Given the description of an element on the screen output the (x, y) to click on. 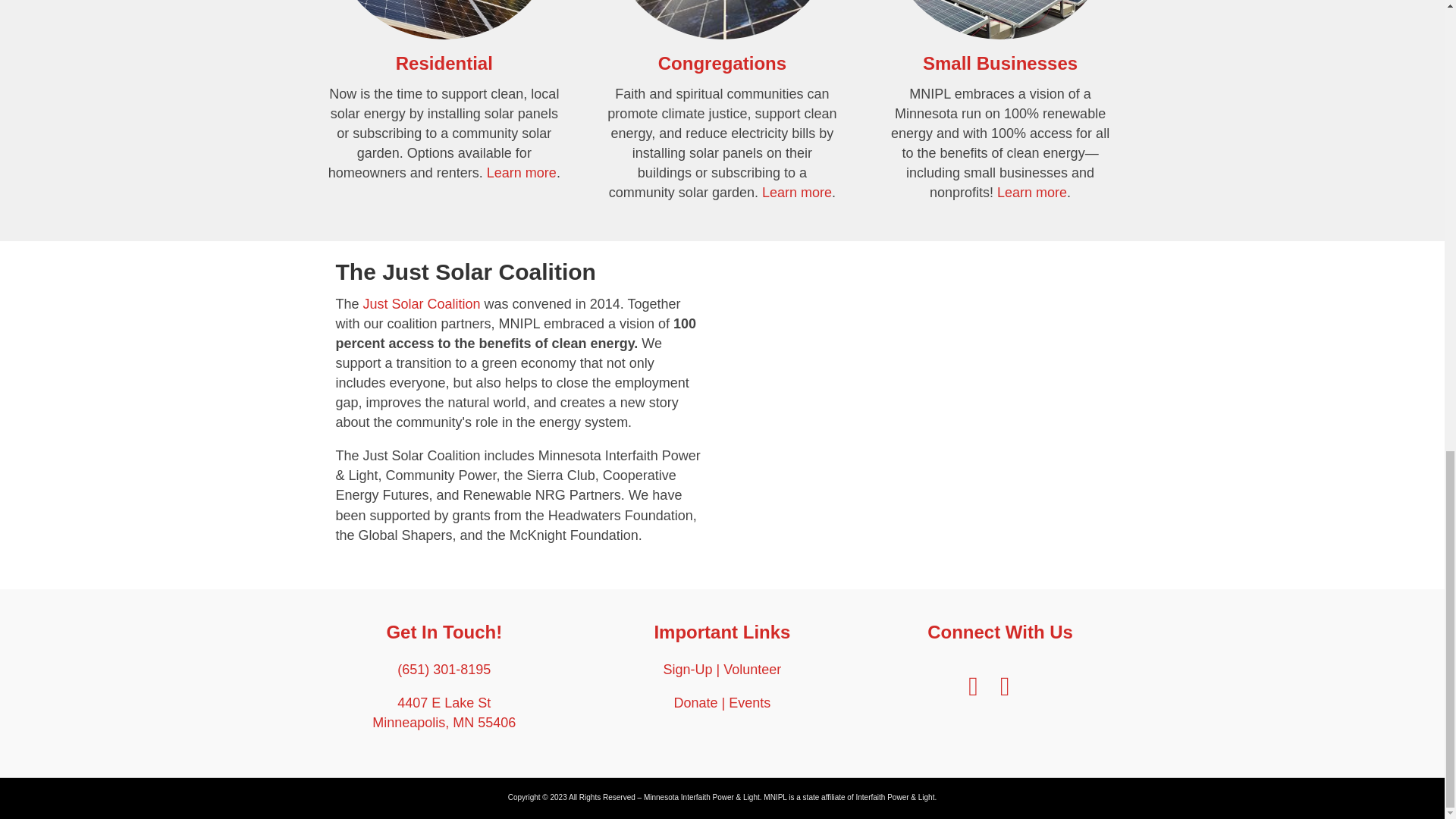
solar (721, 20)
Just Community Solar: A Story of Faith in Action! (922, 375)
solar-apadana (443, 20)
solar-success (999, 20)
